Given the description of an element on the screen output the (x, y) to click on. 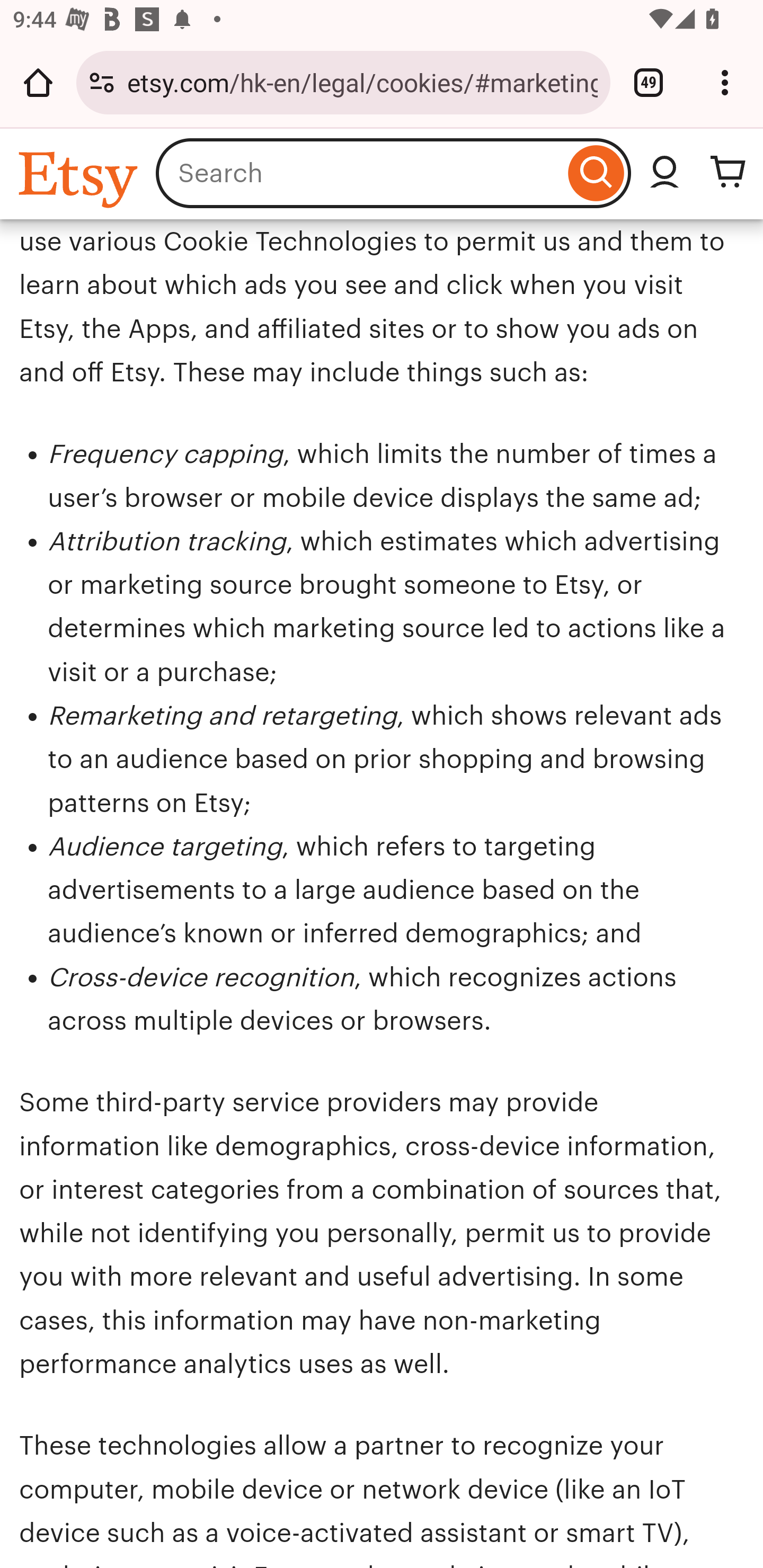
Open the home page (38, 82)
Connection is secure (101, 82)
Switch or close tabs (648, 82)
Customize and control Google Chrome (724, 82)
etsy.com/hk-en/legal/cookies/#marketing-services (362, 82)
Search (595, 172)
Cart (727, 172)
Sign in (664, 172)
Etsy (80, 178)
